Given the description of an element on the screen output the (x, y) to click on. 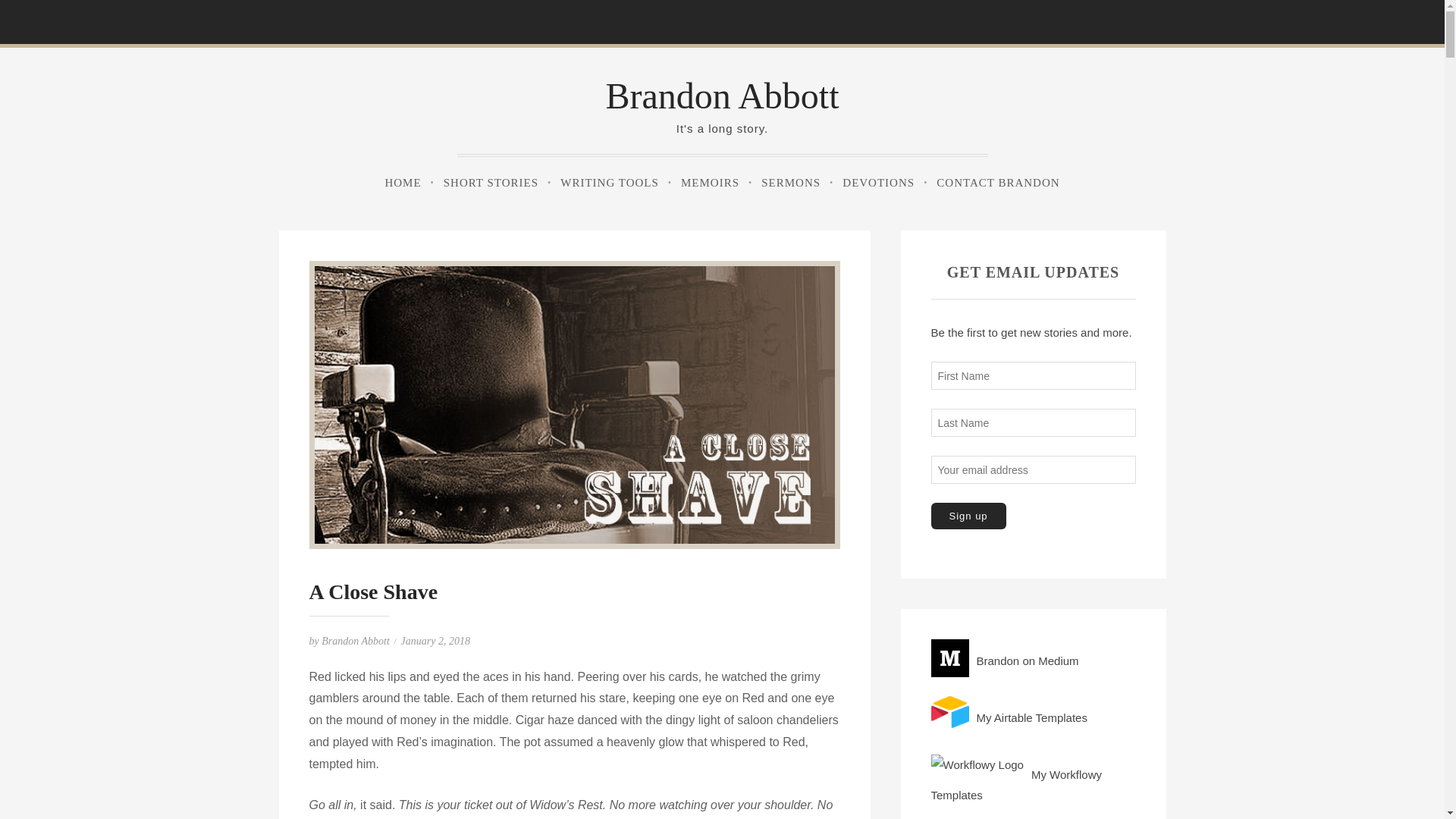
SHORT STORIES (490, 182)
Brandon on Medium (1033, 654)
Sign up (968, 515)
My Workflowy Templates (1033, 778)
DEVOTIONS (878, 182)
CONTACT BRANDON (997, 182)
Brandon Abbott (355, 641)
WRITING TOOLS (608, 182)
HOME (402, 182)
SERMONS (790, 182)
